Given the description of an element on the screen output the (x, y) to click on. 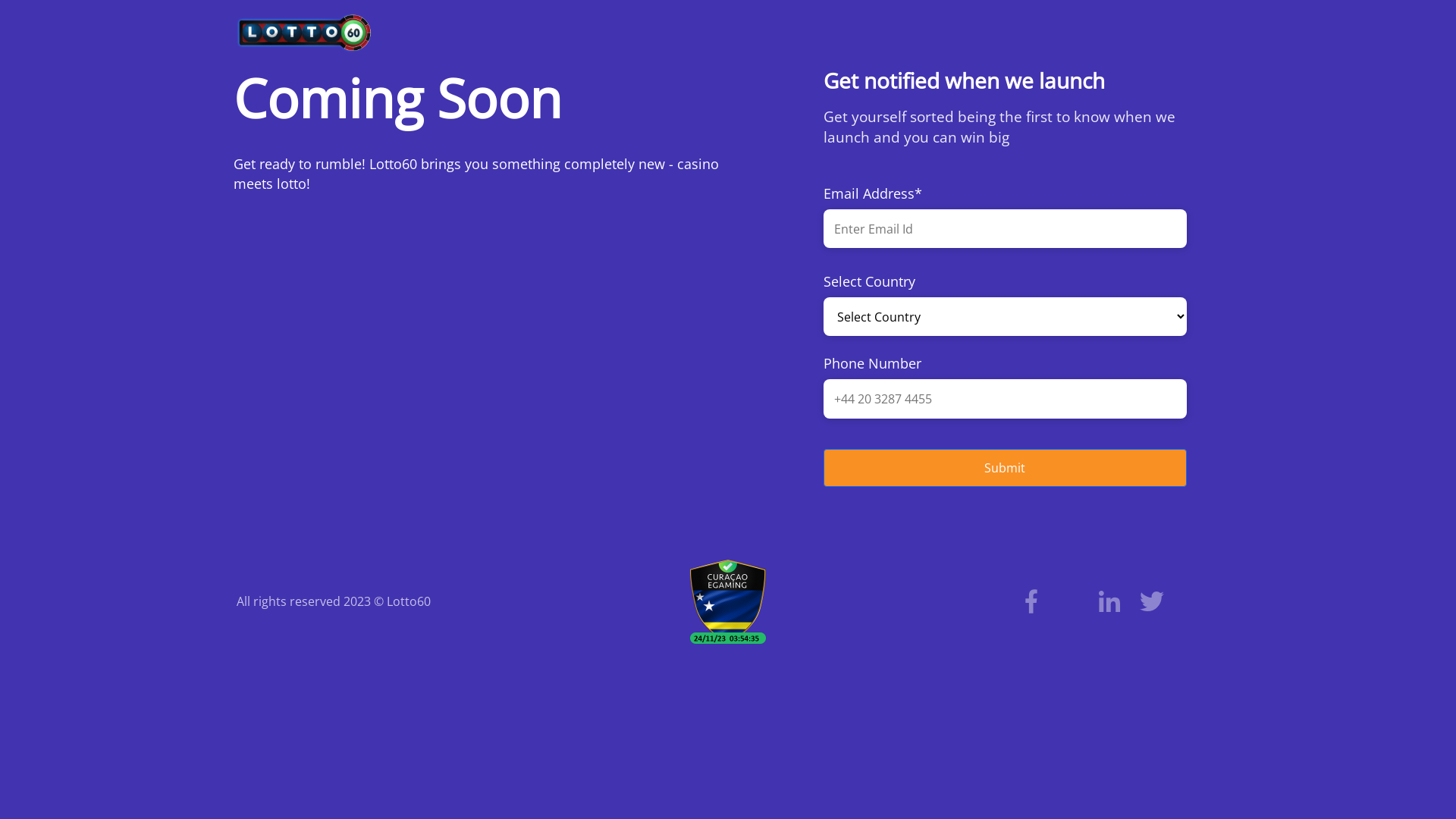
Submit Element type: text (1004, 444)
